Given the description of an element on the screen output the (x, y) to click on. 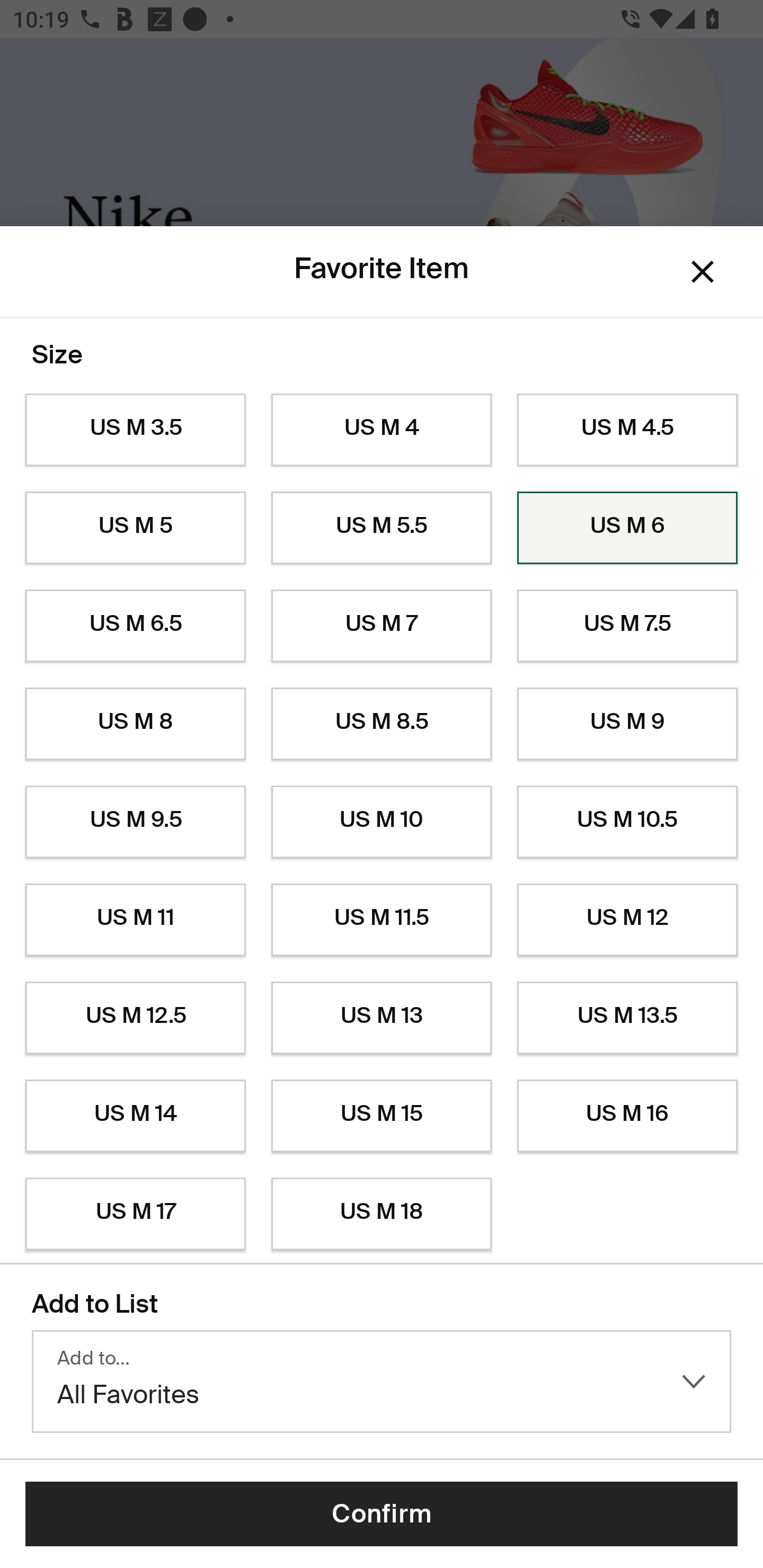
Dismiss (702, 271)
US M 3.5 (135, 430)
US M 4 (381, 430)
US M 4.5 (627, 430)
US M 5 (135, 527)
US M 5.5 (381, 527)
US M 6 (627, 527)
US M 6.5 (135, 626)
US M 7 (381, 626)
US M 7.5 (627, 626)
US M 8 (135, 724)
US M 8.5 (381, 724)
US M 9 (627, 724)
US M 9.5 (135, 822)
US M 10 (381, 822)
US M 10.5 (627, 822)
US M 11 (135, 919)
US M 11.5 (381, 919)
US M 12 (627, 919)
US M 12.5 (135, 1018)
US M 13 (381, 1018)
US M 13.5 (627, 1018)
US M 14 (135, 1116)
US M 15 (381, 1116)
US M 16 (627, 1116)
US M 17 (135, 1214)
US M 18 (381, 1214)
Add to… All Favorites (381, 1381)
Confirm (381, 1513)
